Given the description of an element on the screen output the (x, y) to click on. 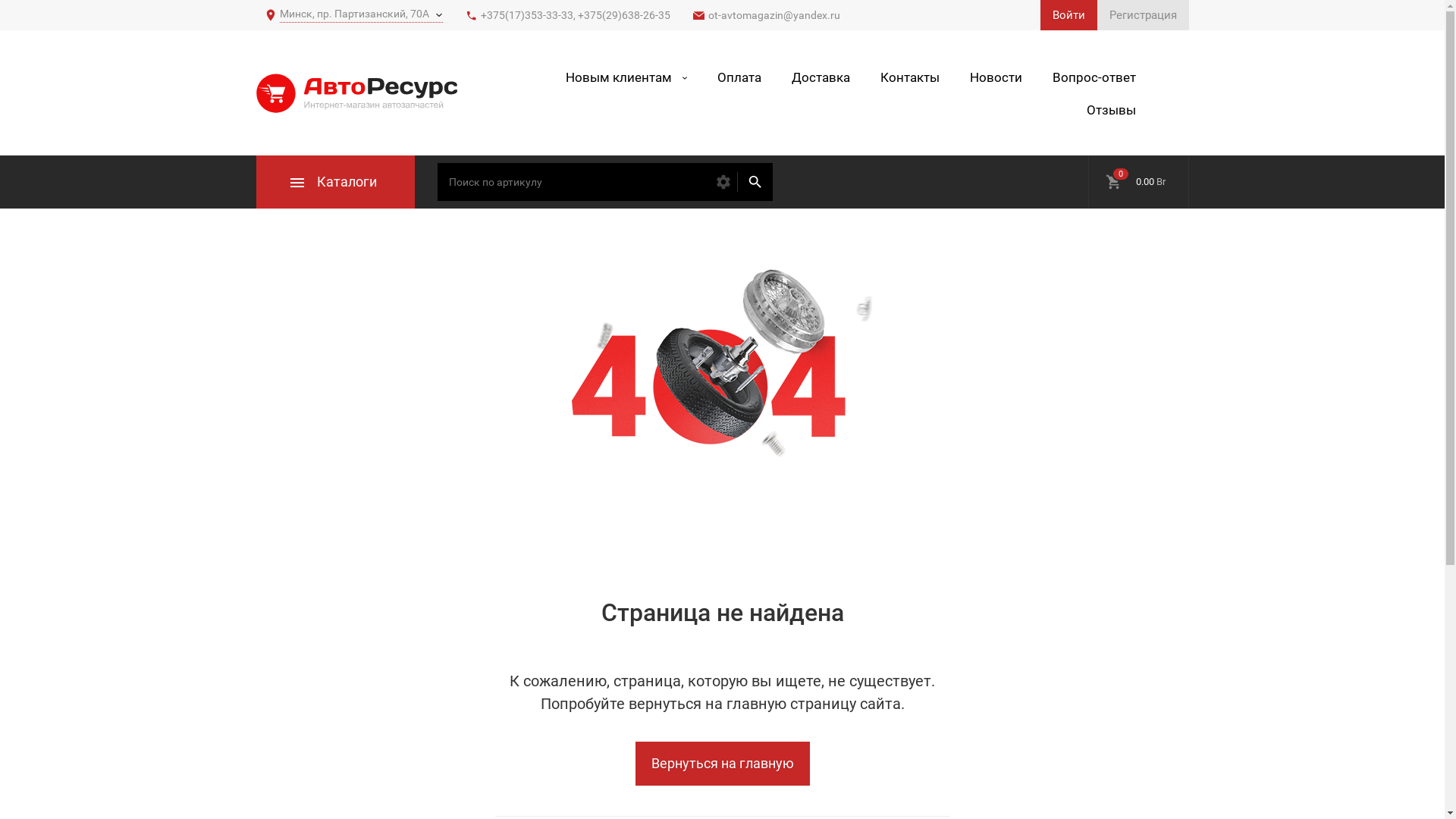
0
0.00 Br Element type: text (1137, 181)
